Given the description of an element on the screen output the (x, y) to click on. 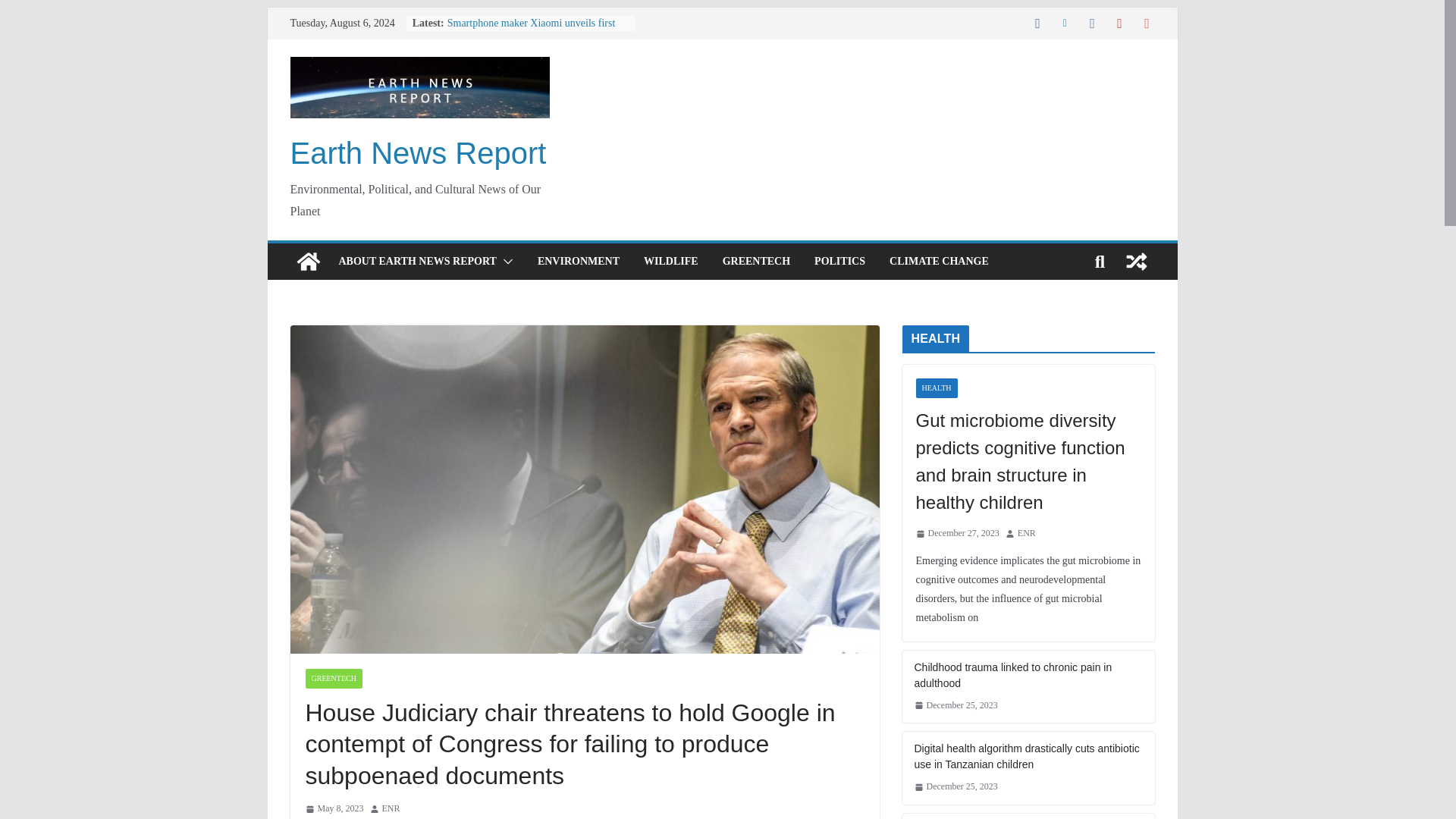
POLITICS (838, 260)
ENR (390, 808)
View a random post (1136, 261)
8:02 pm (333, 808)
WILDLIFE (670, 260)
May 8, 2023 (333, 808)
GREENTECH (756, 260)
Earth News Report (417, 152)
Earth News Report (417, 152)
CLIMATE CHANGE (938, 260)
ENVIRONMENT (578, 260)
Earth News Report (307, 261)
